Given the description of an element on the screen output the (x, y) to click on. 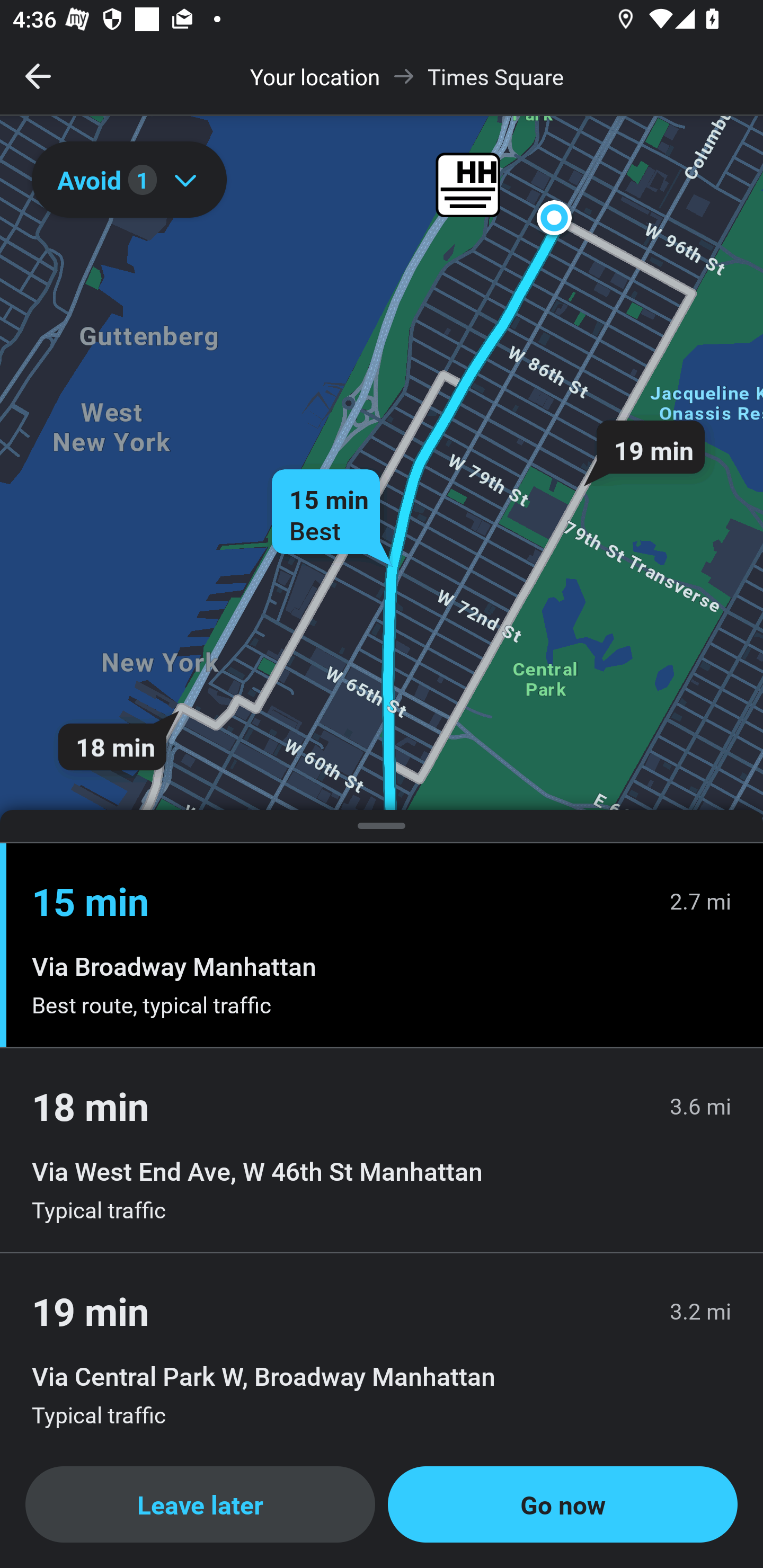
Leave later (200, 1504)
Go now (562, 1504)
